Given the description of an element on the screen output the (x, y) to click on. 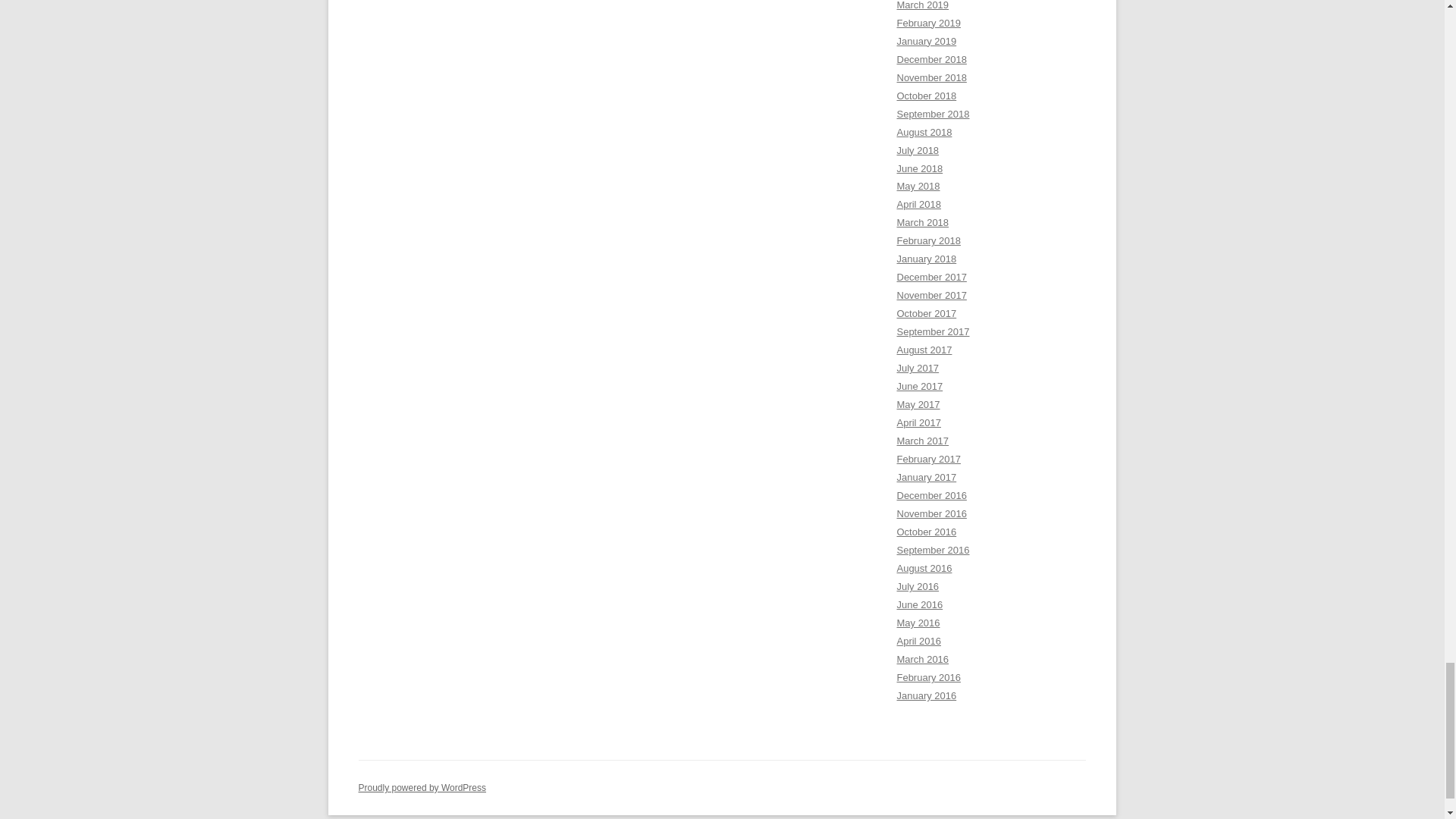
Semantic Personal Publishing Platform (422, 787)
